Given the description of an element on the screen output the (x, y) to click on. 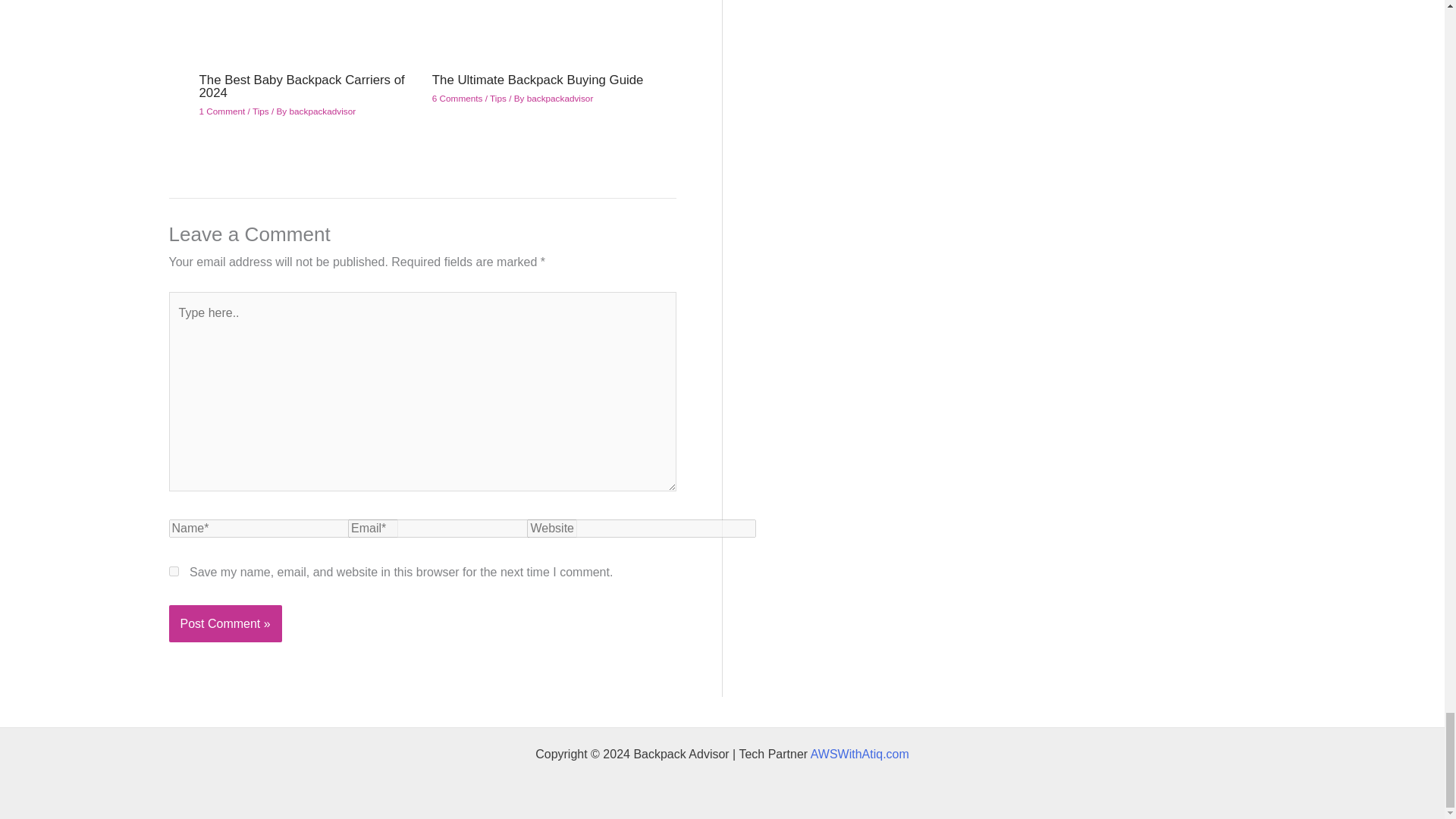
backpackadvisor (322, 111)
Tips (497, 98)
The Best Baby Backpack Carriers of 2024 (301, 85)
The Ultimate Backpack Buying Guide (537, 79)
Tips (260, 111)
AWSWithAtiq.com (859, 753)
View all posts by backpackadvisor (322, 111)
yes (172, 571)
1 Comment (221, 111)
View all posts by backpackadvisor (560, 98)
6 Comments (457, 98)
backpackadvisor (560, 98)
